Given the description of an element on the screen output the (x, y) to click on. 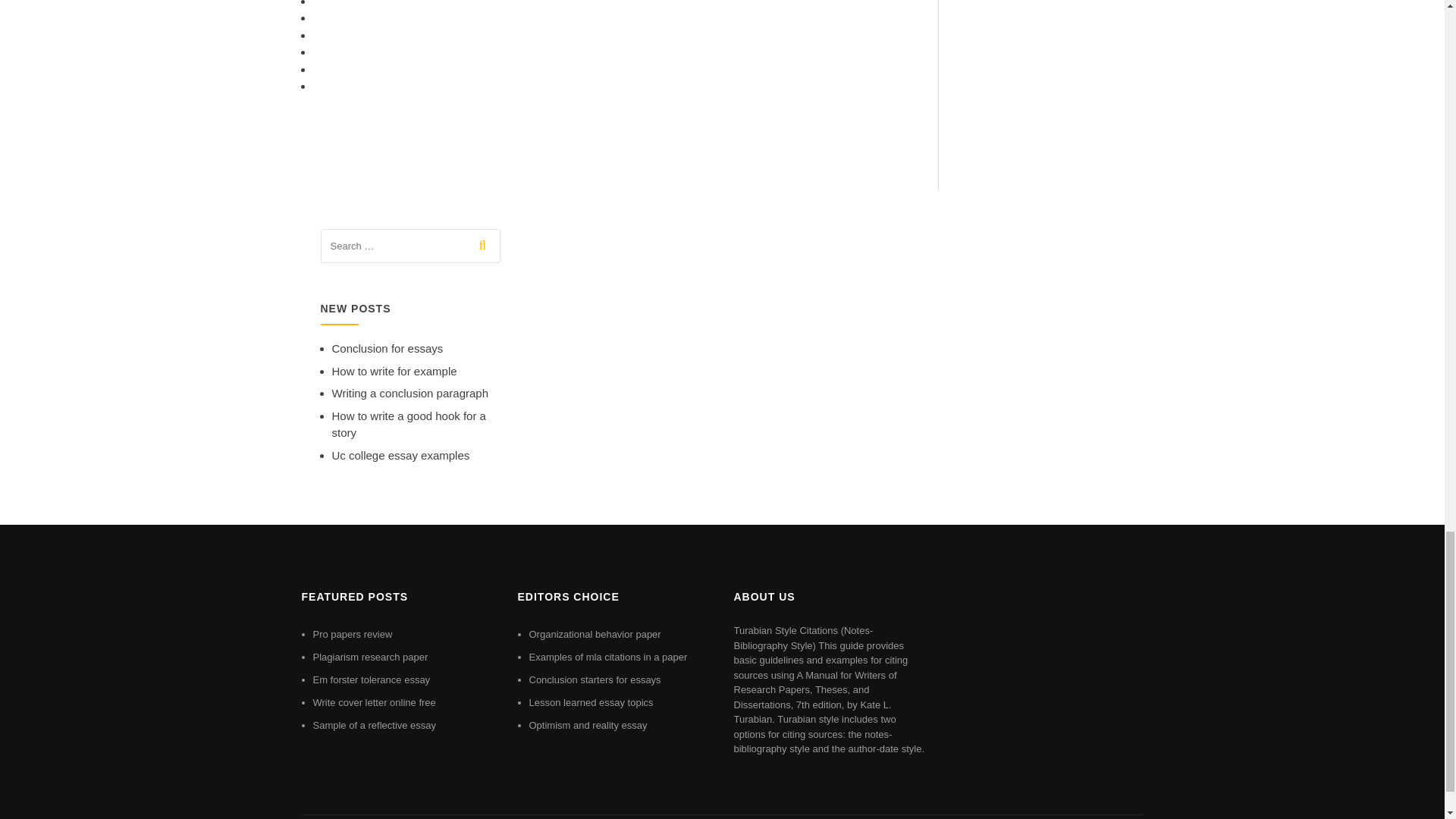
Pro papers review (352, 633)
How to write for example (394, 370)
How to write a good hook for a story (408, 424)
Writing a conclusion paragraph (410, 392)
Conclusion starters for essays (595, 679)
Uc college essay examples (400, 454)
Organizational behavior paper (595, 633)
Conclusion for essays (387, 348)
Lesson learned essay topics (591, 702)
Optimism and reality essay (588, 725)
